Given the description of an element on the screen output the (x, y) to click on. 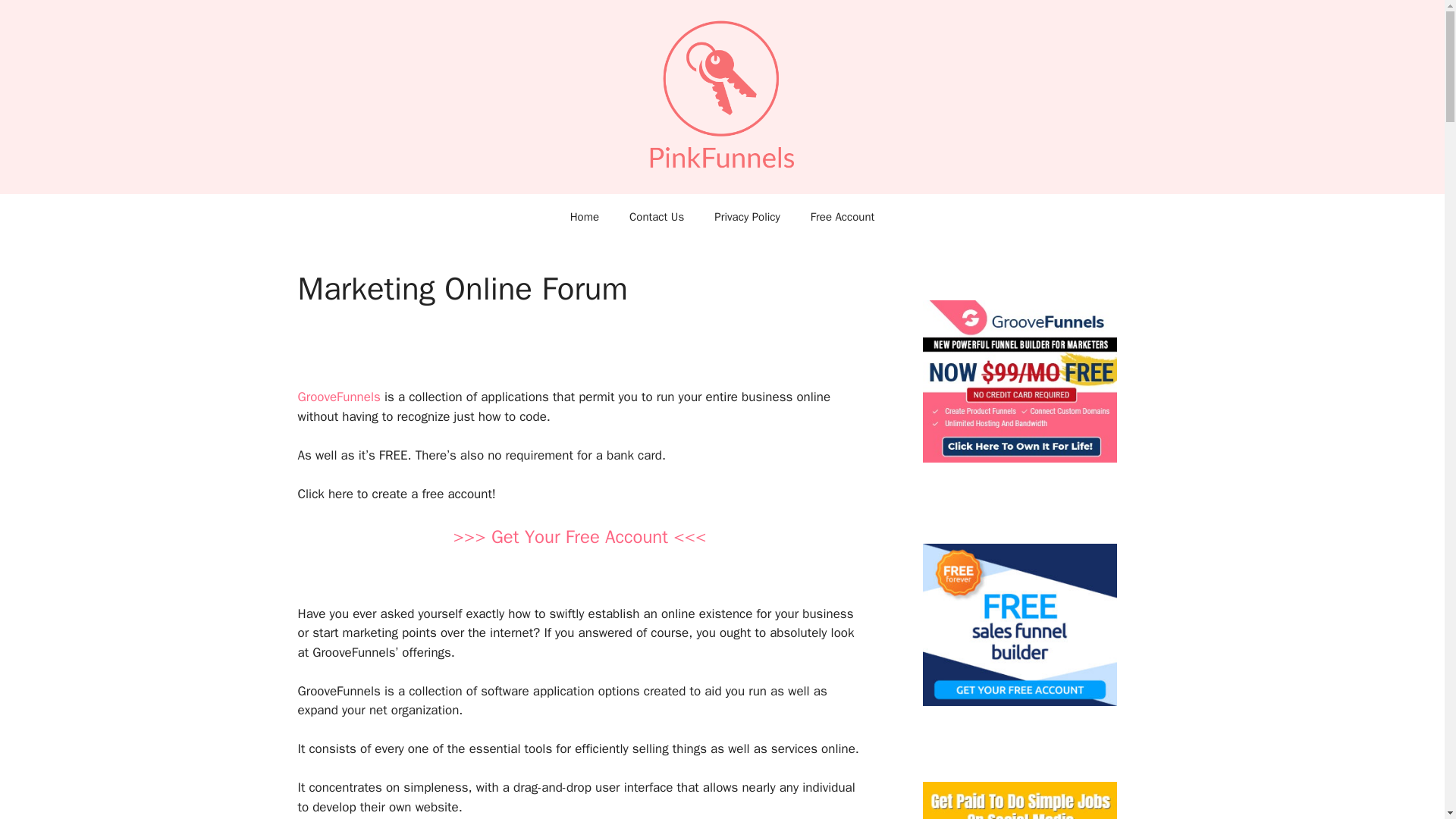
Free Account (841, 216)
GrooveFunnels (338, 396)
Privacy Policy (746, 216)
Contact Us (656, 216)
Home (584, 216)
